Given the description of an element on the screen output the (x, y) to click on. 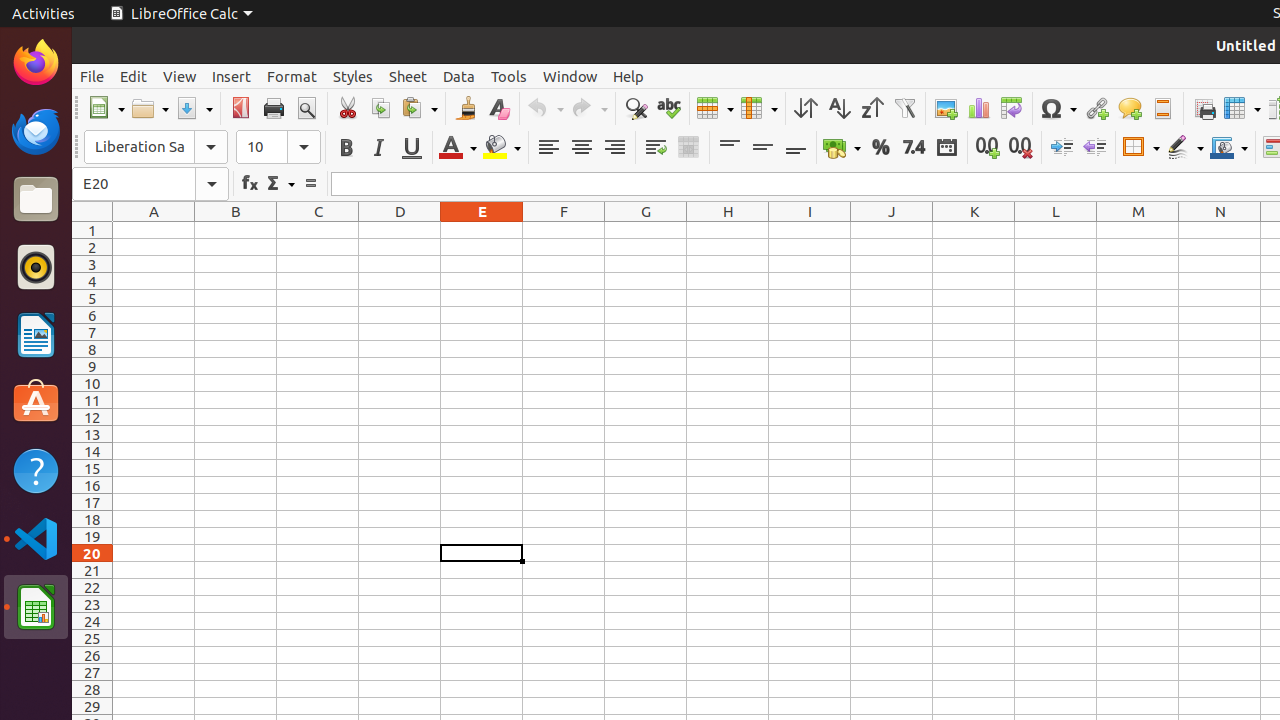
Number Element type: push-button (913, 147)
Chart Element type: push-button (978, 108)
Freeze Rows and Columns Element type: push-button (1242, 108)
J1 Element type: table-cell (892, 230)
Open Element type: push-button (150, 108)
